Given the description of an element on the screen output the (x, y) to click on. 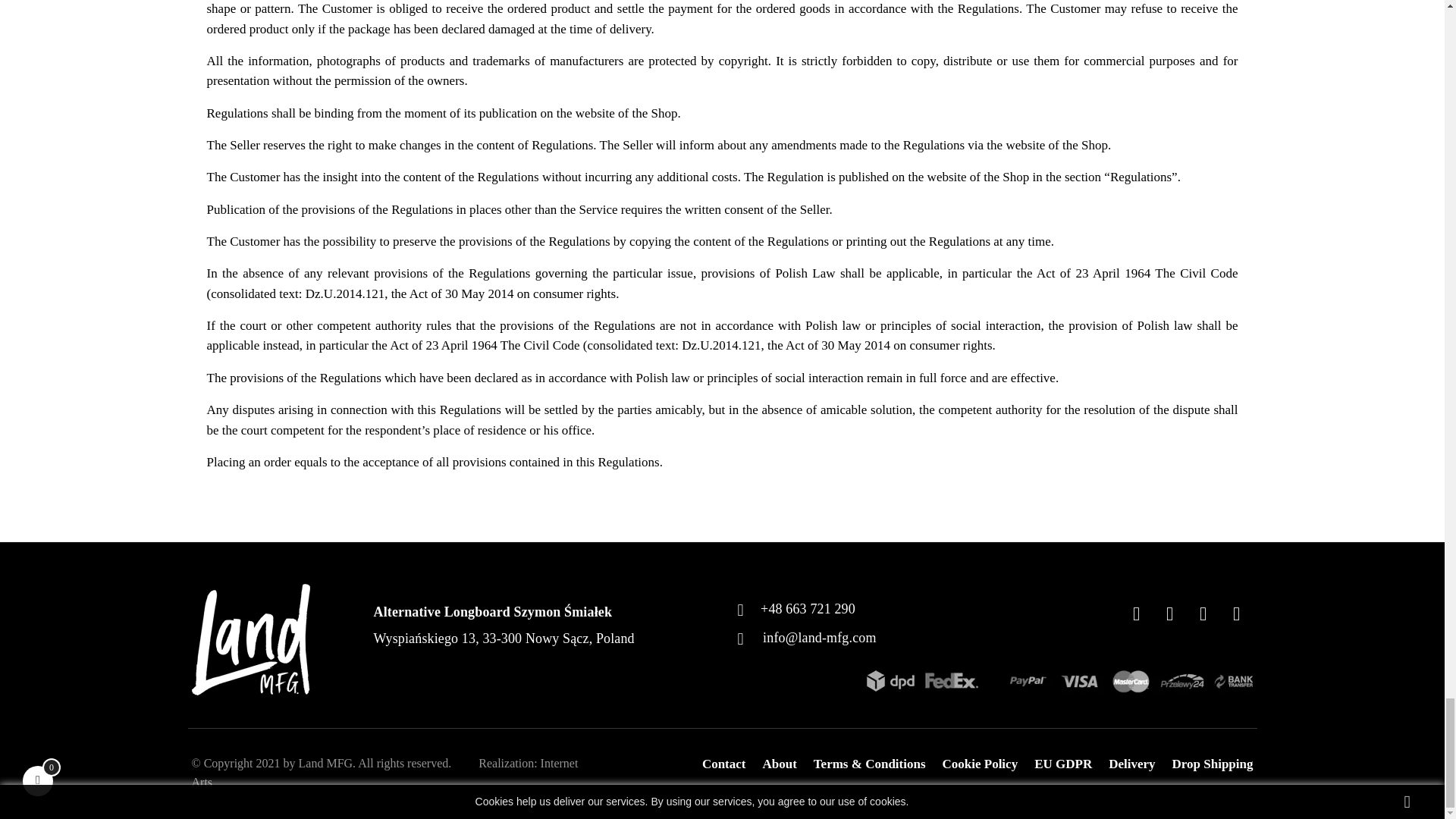
YouTube (1235, 615)
Land MFG (251, 639)
Twitter (1168, 615)
Instagram (1202, 615)
Facebook (1135, 615)
